Given the description of an element on the screen output the (x, y) to click on. 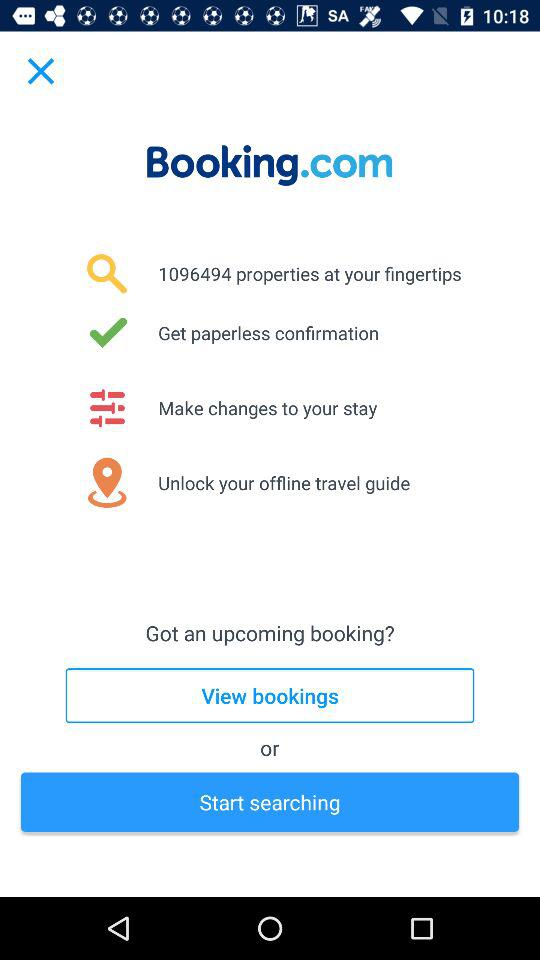
click on the tick option (107, 332)
select bookingcom (269, 165)
select the search icon which is below bookingcom (107, 273)
